Given the description of an element on the screen output the (x, y) to click on. 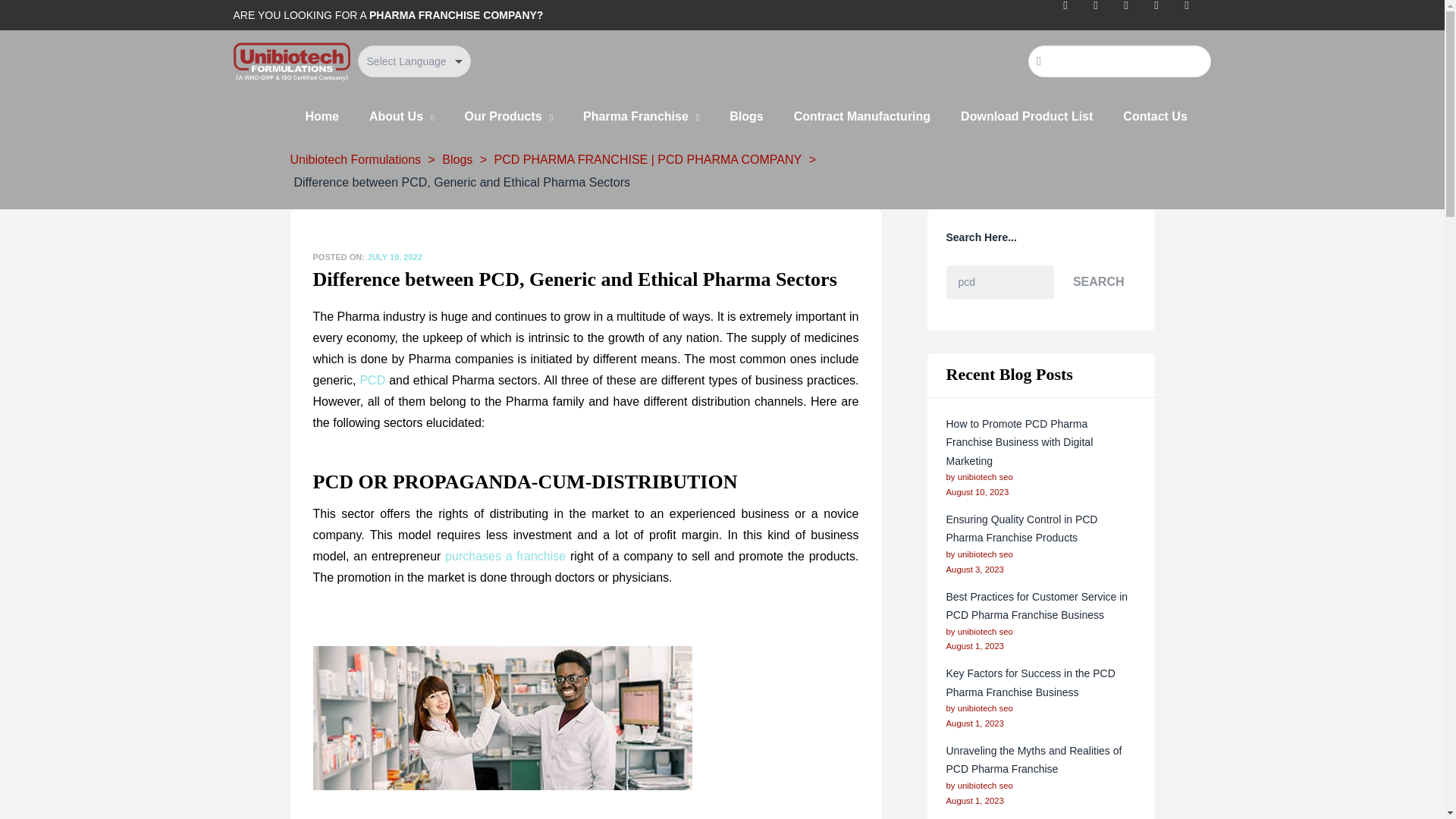
PCD (372, 379)
purchases a franchise (505, 555)
Search (1126, 60)
Go to Unibiotech Formulations. (354, 159)
Go to Blogs. (456, 159)
